Given the description of an element on the screen output the (x, y) to click on. 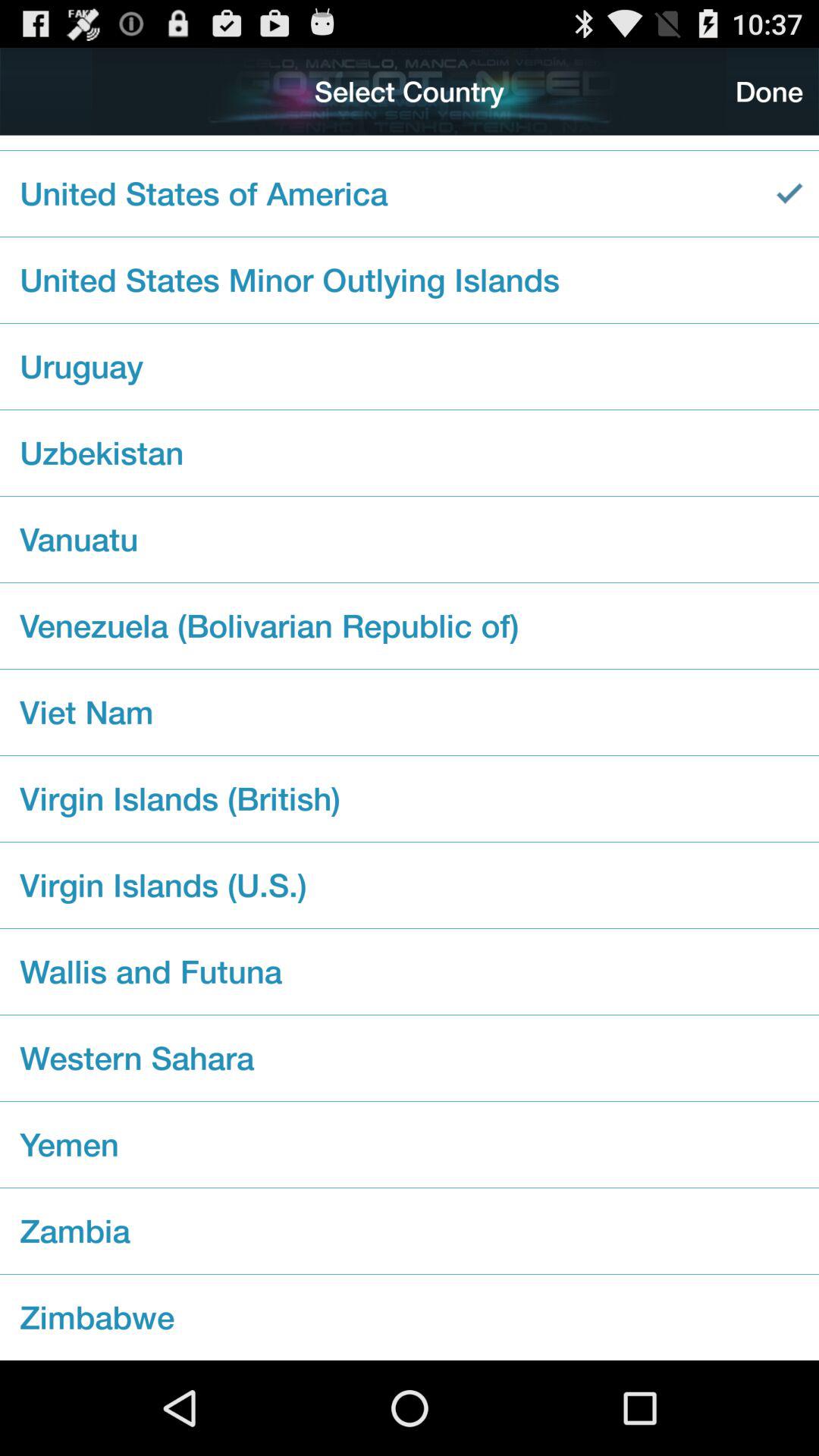
select zambia item (409, 1231)
